Given the description of an element on the screen output the (x, y) to click on. 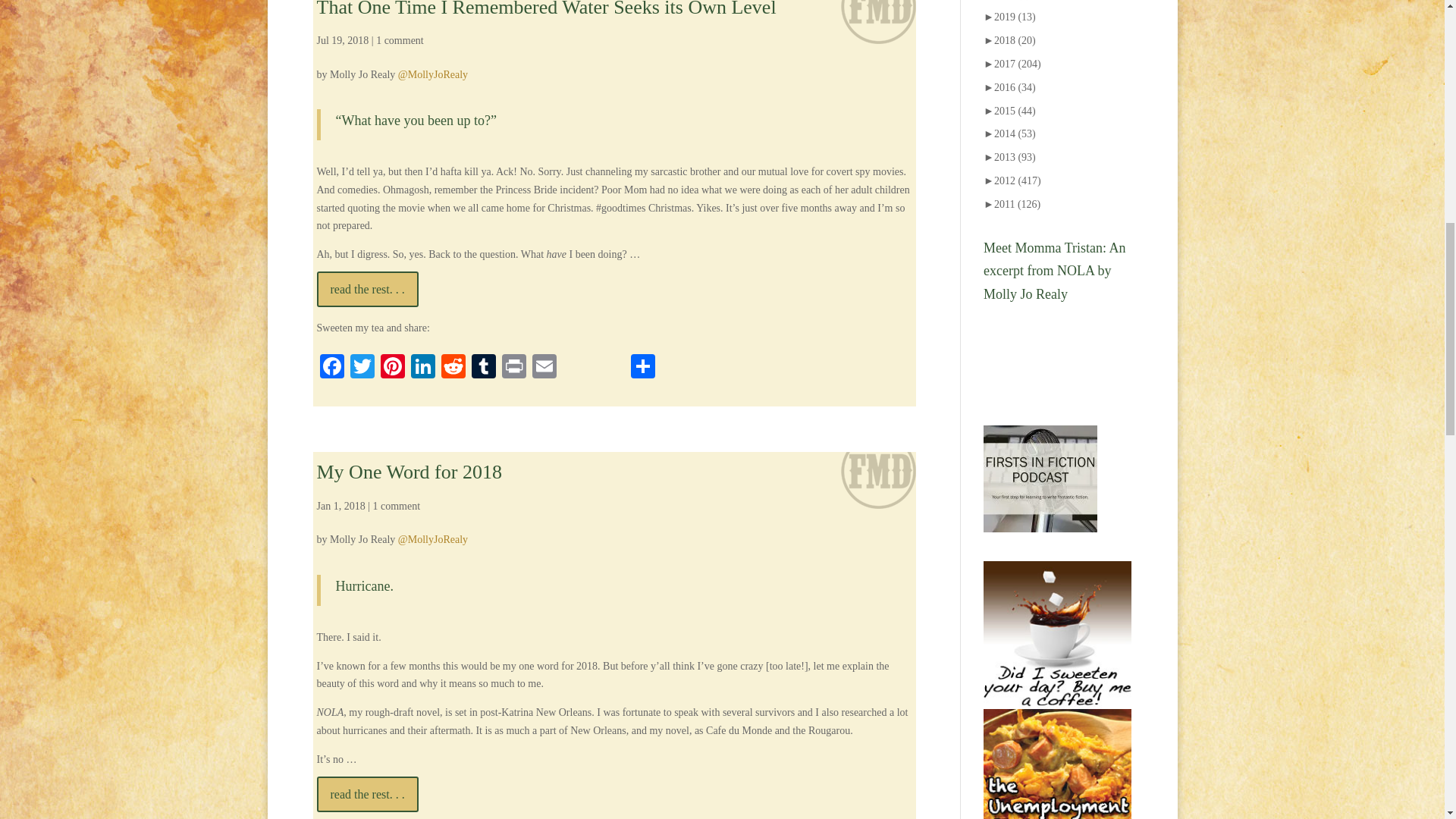
That One Time I Remembered Water Seeks its Own Level (546, 9)
read the rest. . . (368, 289)
1 comment (399, 40)
